Given the description of an element on the screen output the (x, y) to click on. 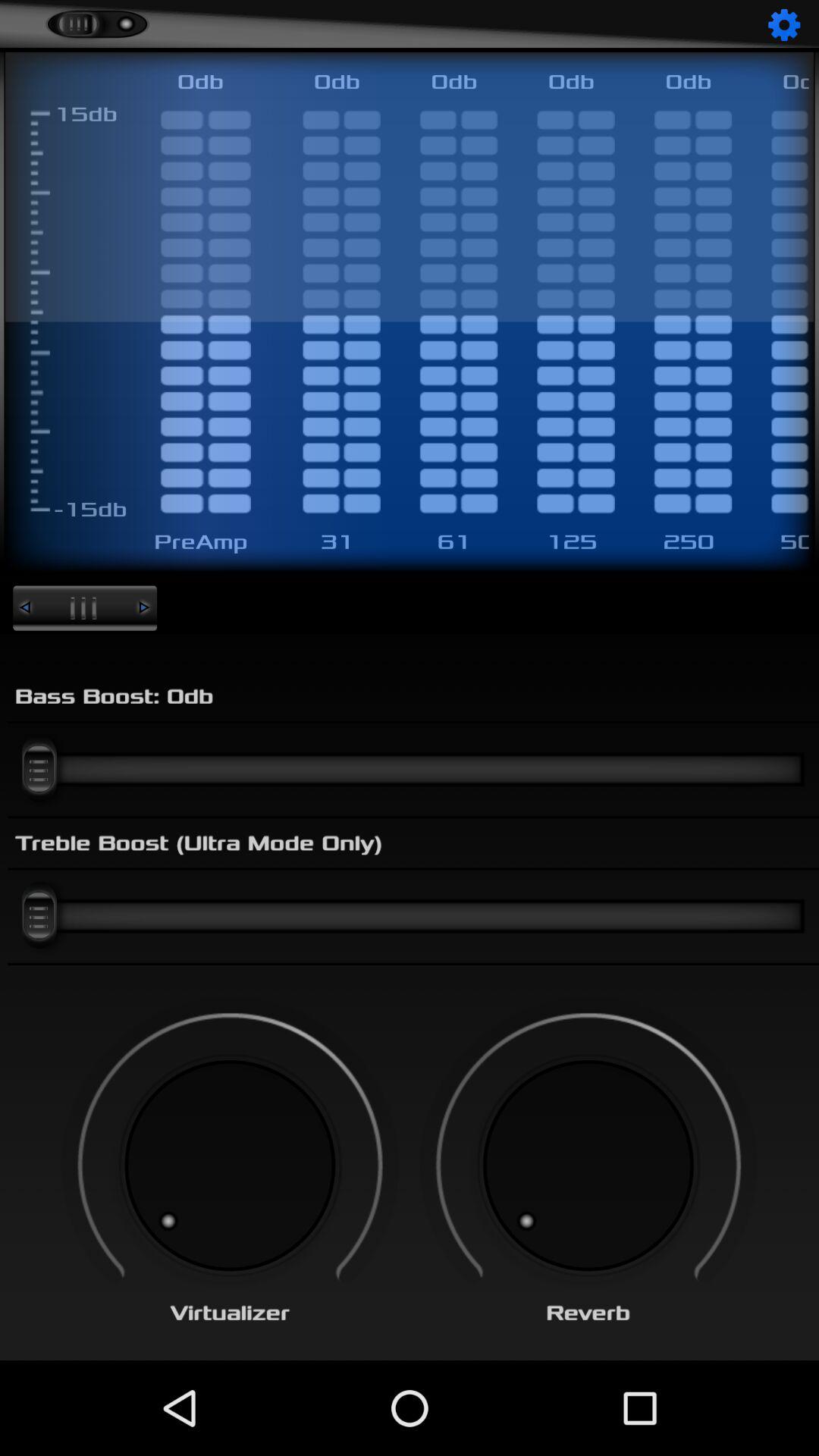
virtualizer control (229, 1165)
